Given the description of an element on the screen output the (x, y) to click on. 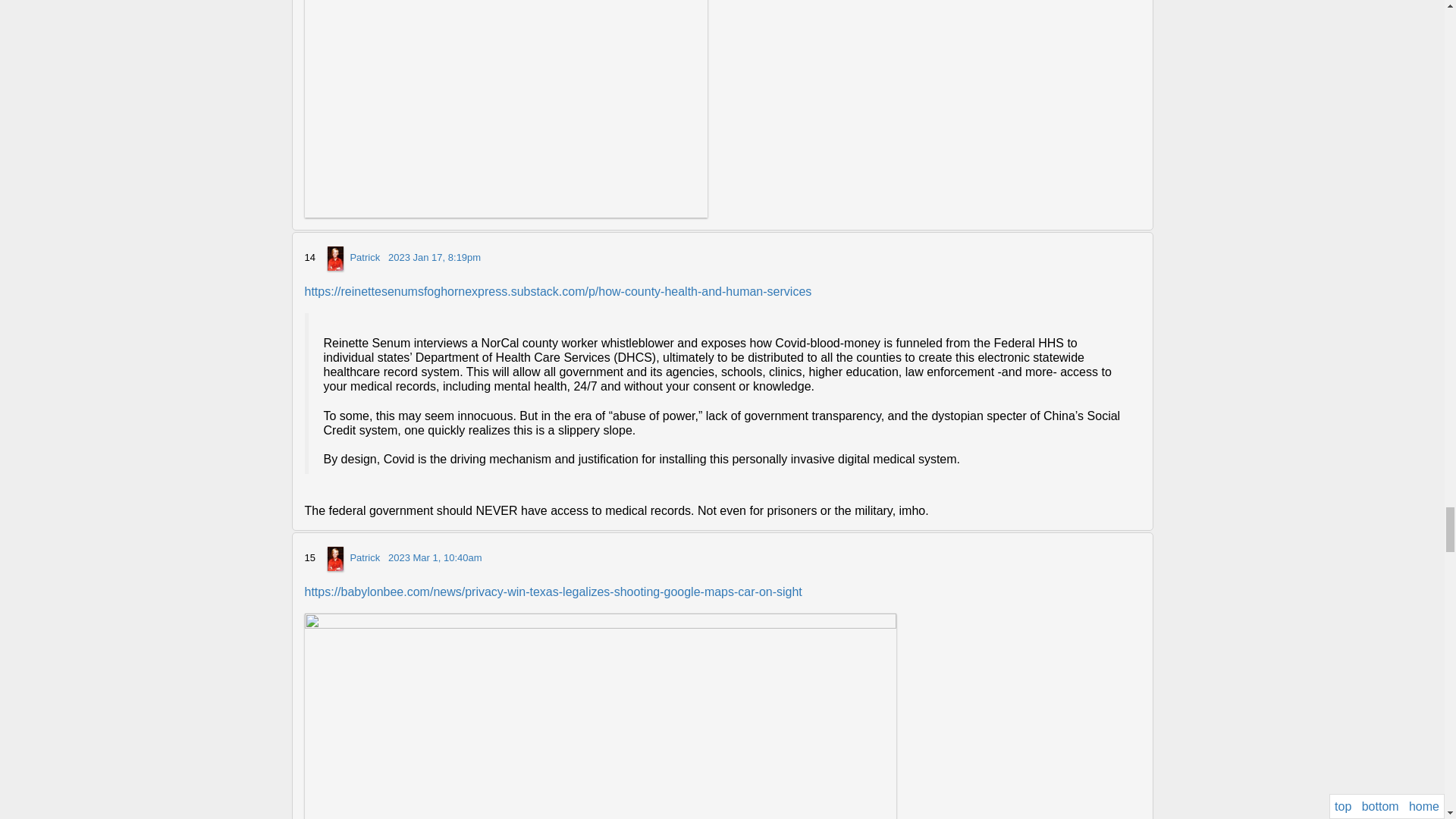
permalink to this comment (434, 257)
